Given the description of an element on the screen output the (x, y) to click on. 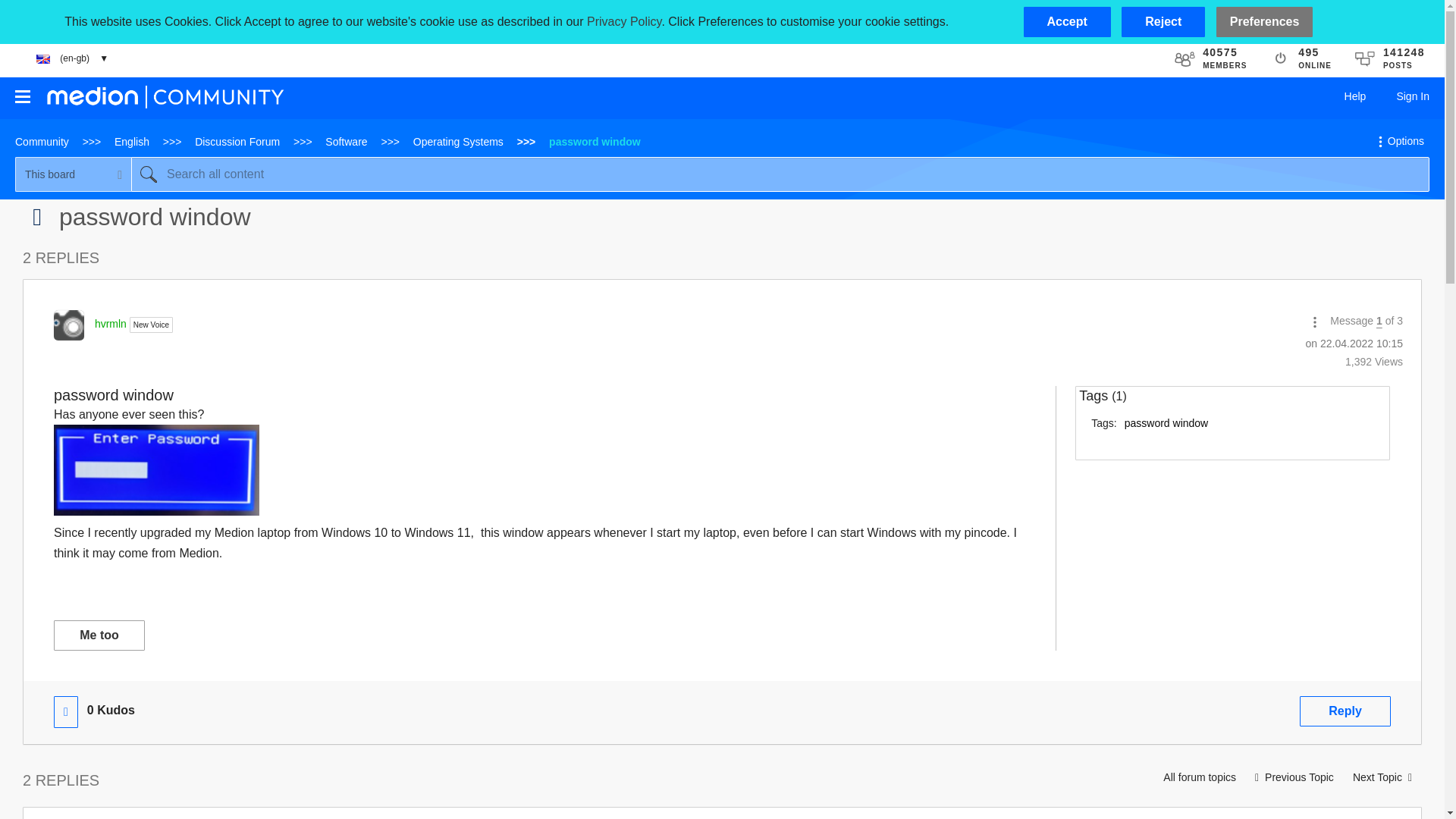
Click here if you had a similar experience (98, 634)
English (131, 141)
Show option menu (1314, 322)
Browse (22, 95)
Software (345, 141)
Help (1355, 95)
Message Board (36, 216)
Privacy Policy (623, 21)
password window (1166, 422)
Options (1398, 140)
Search (148, 174)
hvrmln (68, 325)
Search (780, 174)
Discussion Forum (236, 141)
Search (148, 174)
